Given the description of an element on the screen output the (x, y) to click on. 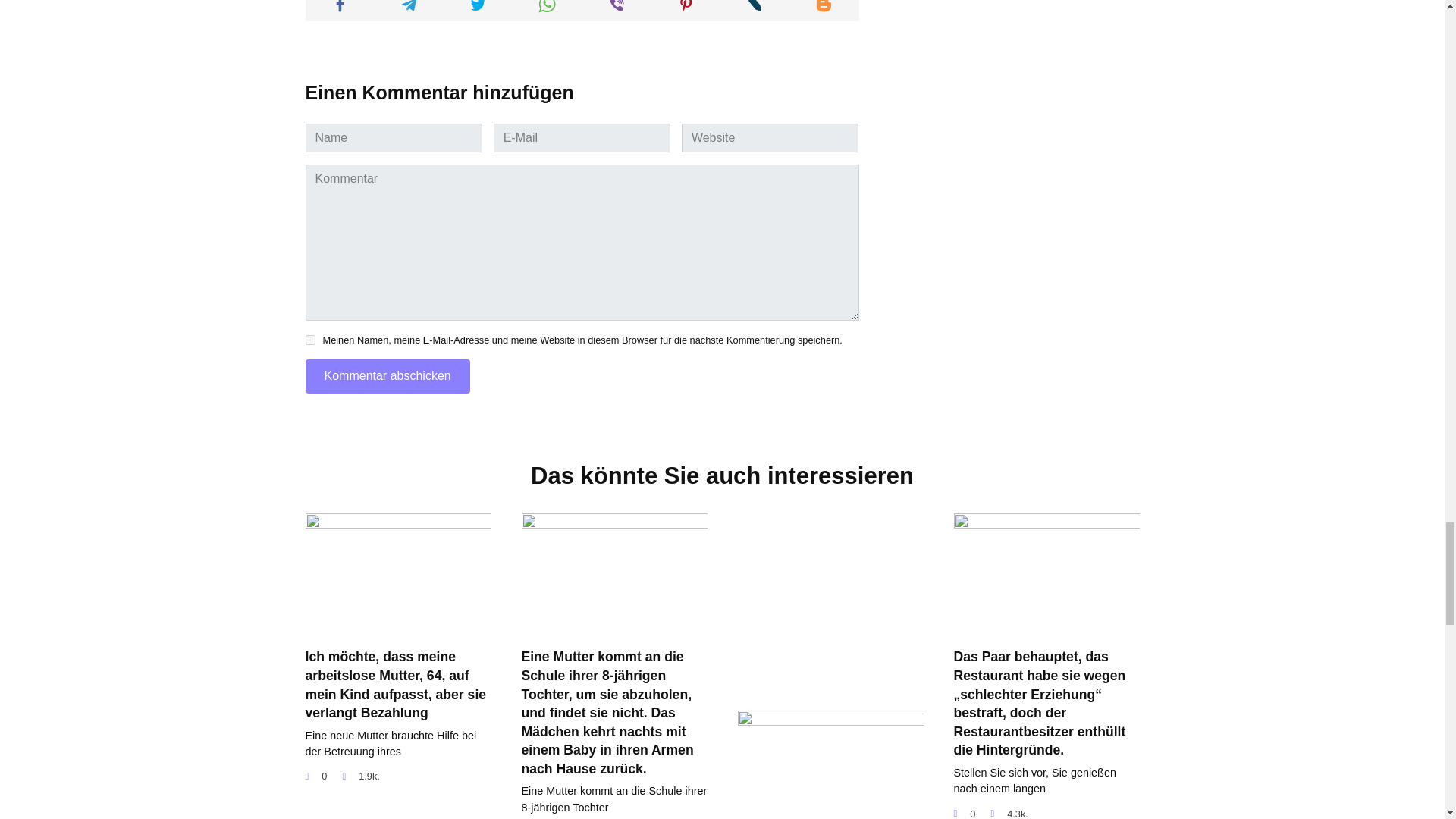
Kommentar abschicken (386, 376)
Kommentar abschicken (386, 376)
yes (309, 339)
